Given the description of an element on the screen output the (x, y) to click on. 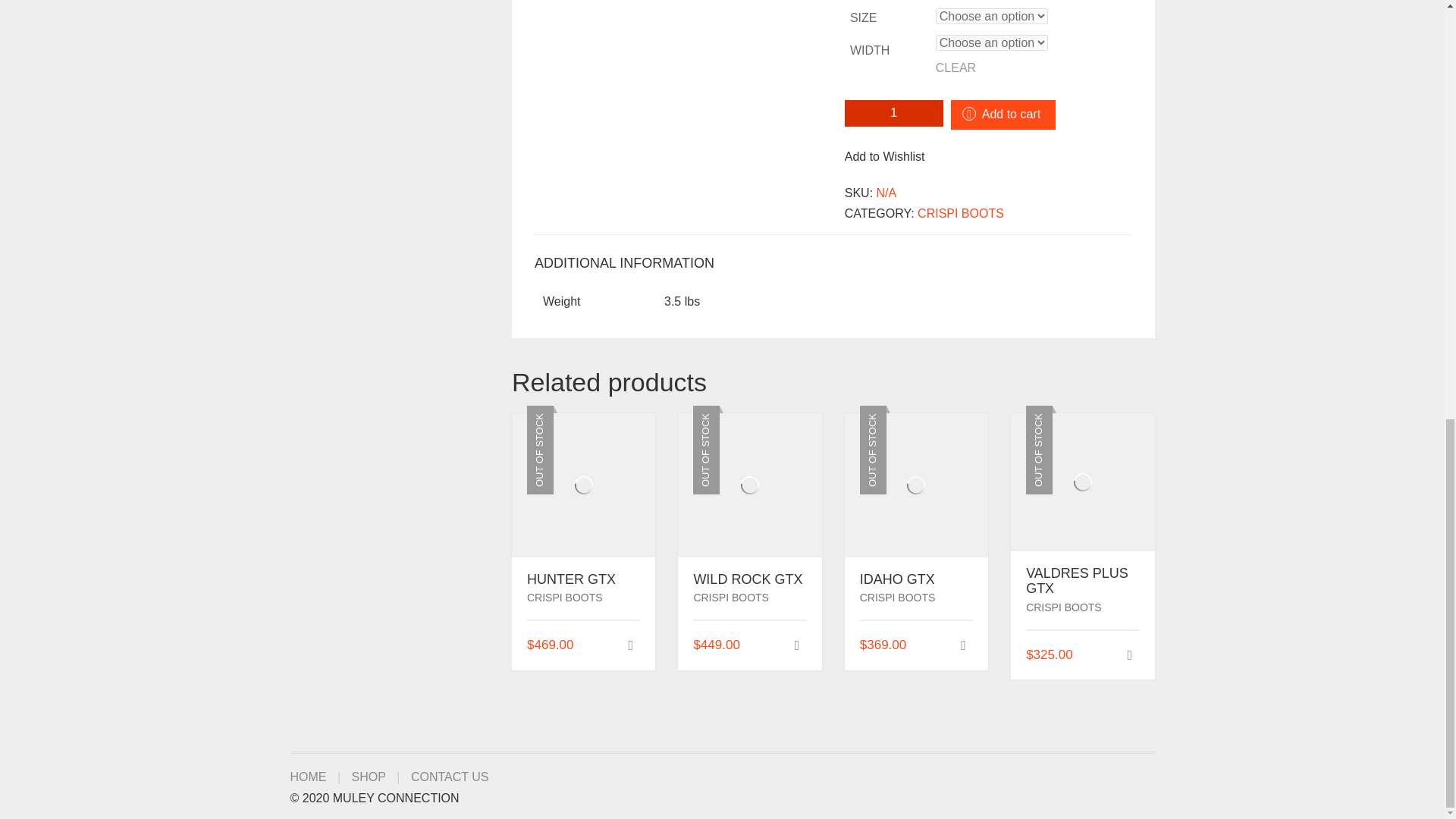
1 (893, 112)
Add to cart (1002, 114)
Select options (630, 645)
CLEAR (1034, 67)
Select options (962, 645)
CRISPI BOOTS (960, 213)
Add to Wishlist (884, 155)
Select options (1128, 654)
ADDITIONAL INFORMATION (624, 263)
Select options (796, 645)
